Given the description of an element on the screen output the (x, y) to click on. 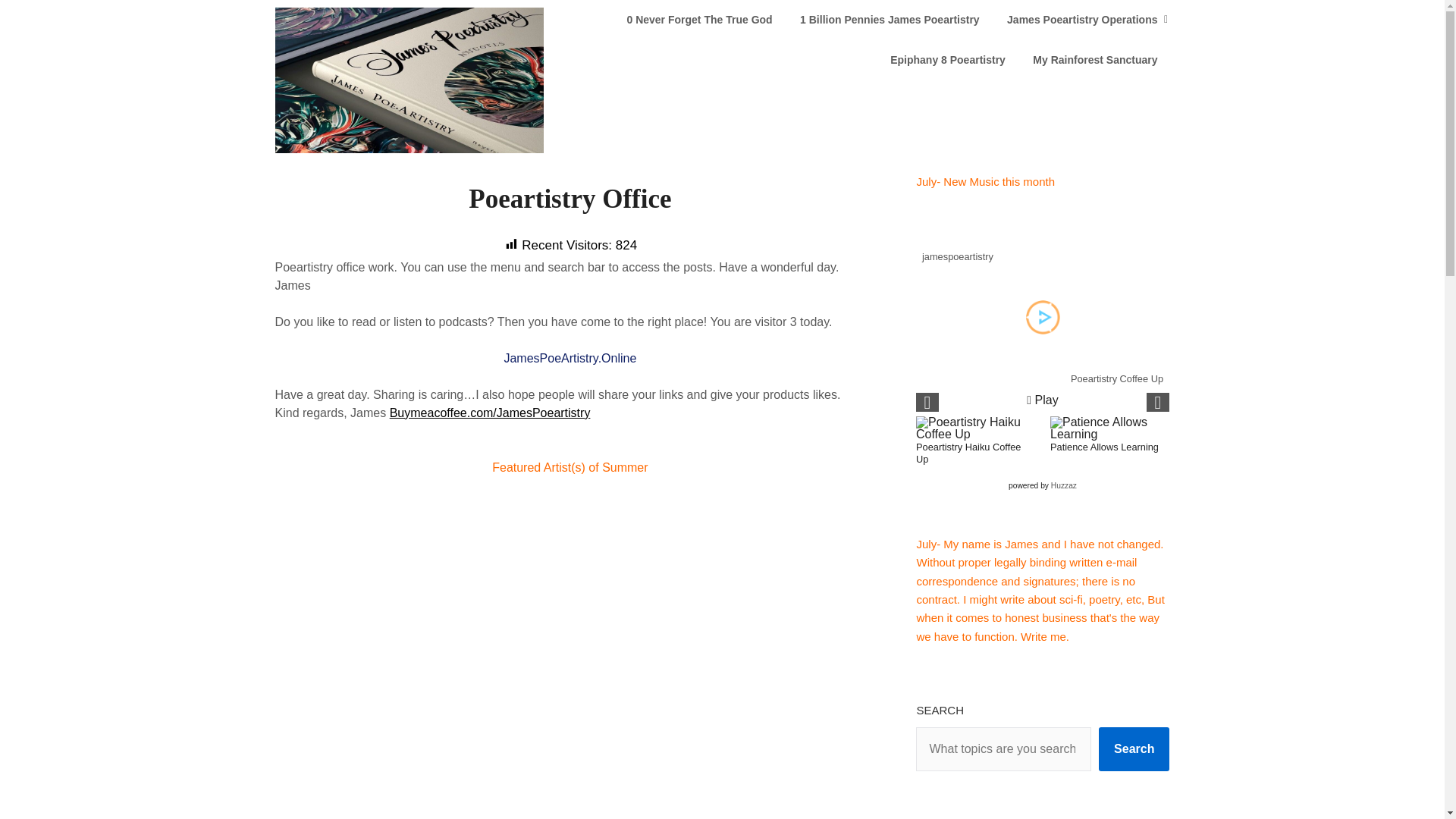
1 Billion Pennies James Poeartistry (889, 20)
James Poeartistry Operations (1081, 20)
0 Never Forget The True God (699, 20)
My Rainforest Sanctuary (1094, 60)
Search (1134, 749)
Epiphany 8 Poeartistry (947, 60)
